Given the description of an element on the screen output the (x, y) to click on. 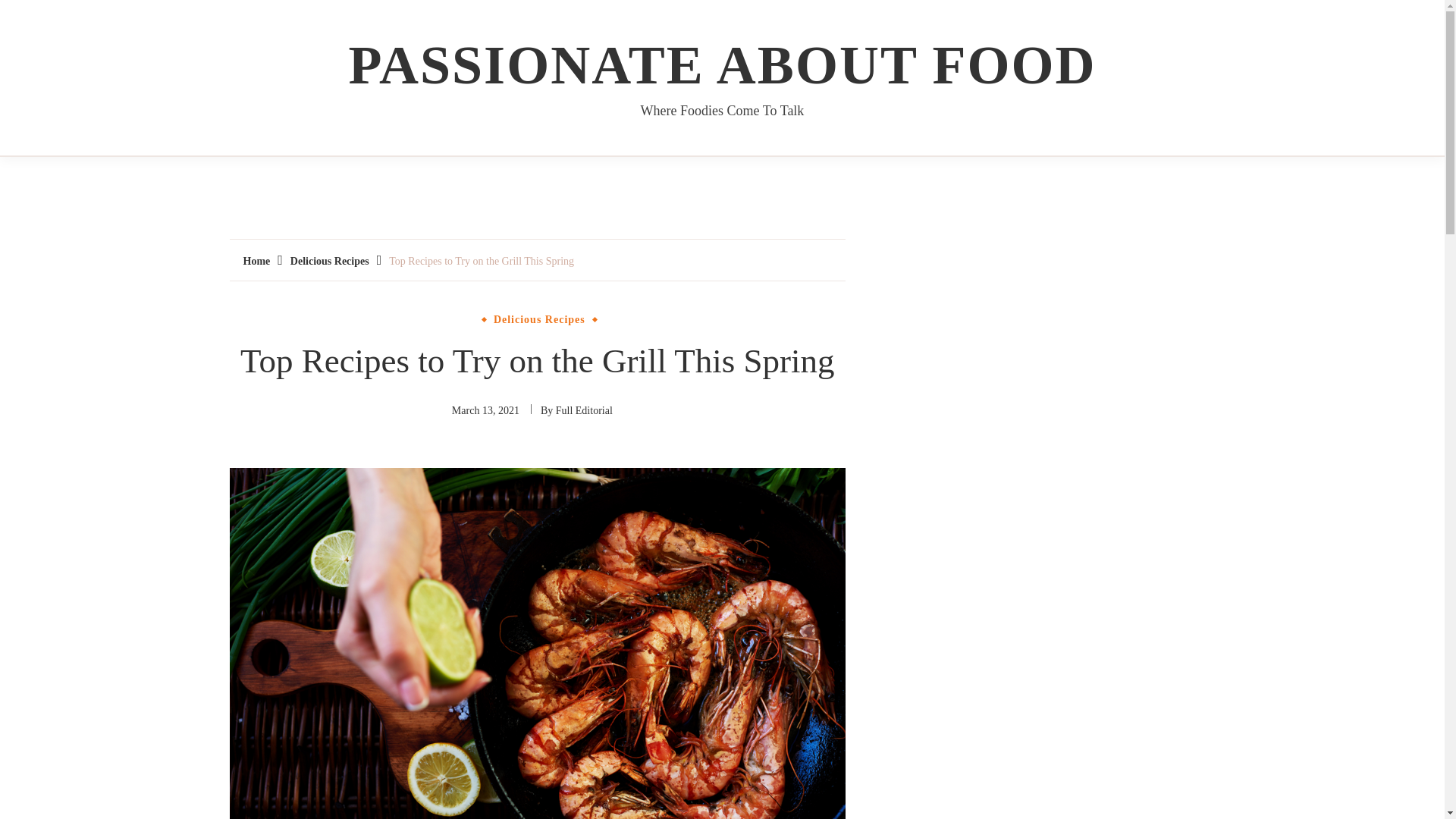
Home (256, 260)
Delicious Recipes (329, 260)
Top Recipes to Try on the Grill This Spring (480, 260)
March 13, 2021 (485, 410)
Delicious Recipes (539, 319)
Full Editorial (584, 410)
PASSIONATE ABOUT FOOD (721, 65)
